Given the description of an element on the screen output the (x, y) to click on. 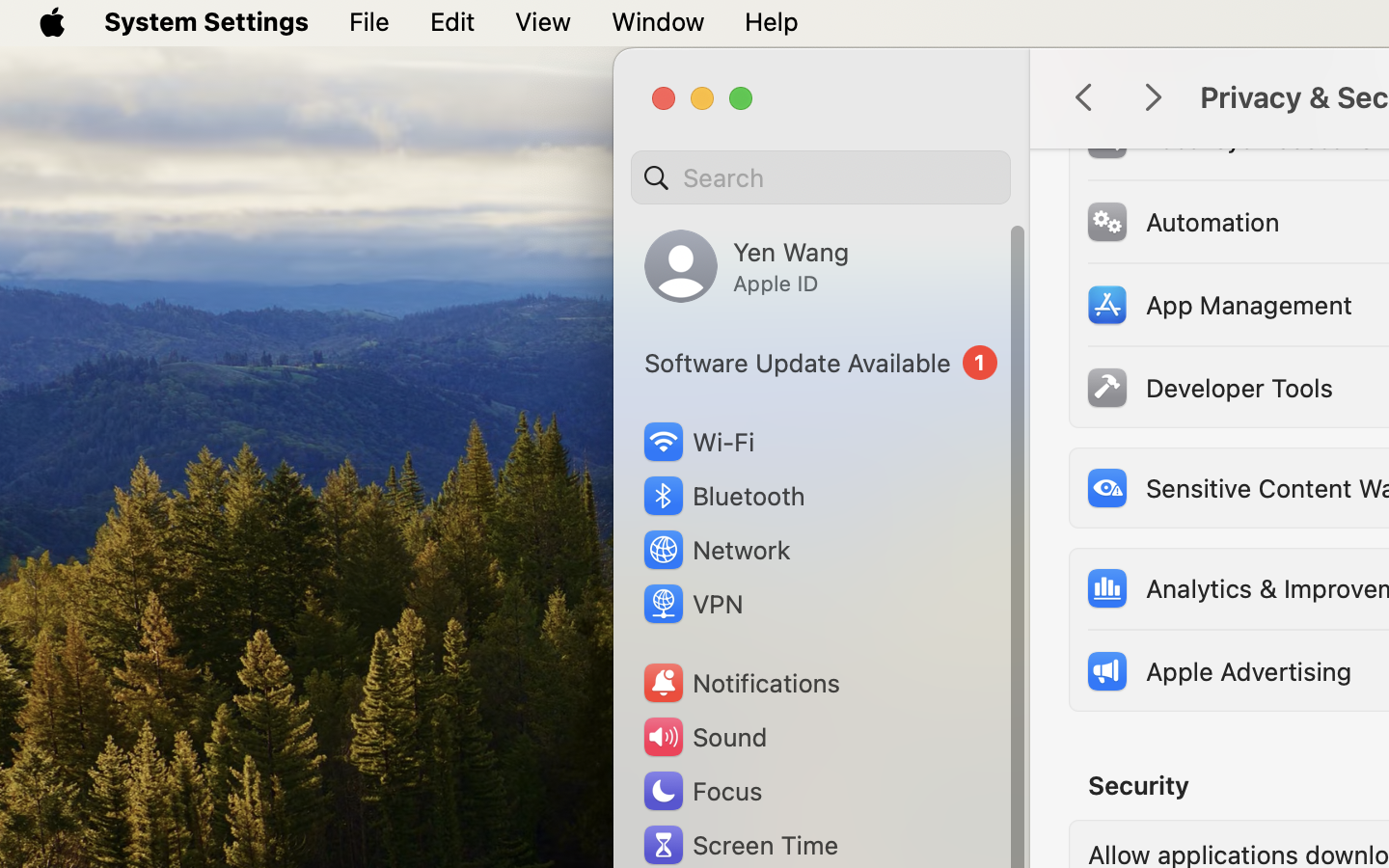
VPN Element type: AXStaticText (691, 603)
Wi‑Fi Element type: AXStaticText (697, 441)
Focus Element type: AXStaticText (701, 790)
Bluetooth Element type: AXStaticText (723, 495)
Network Element type: AXStaticText (715, 549)
